Given the description of an element on the screen output the (x, y) to click on. 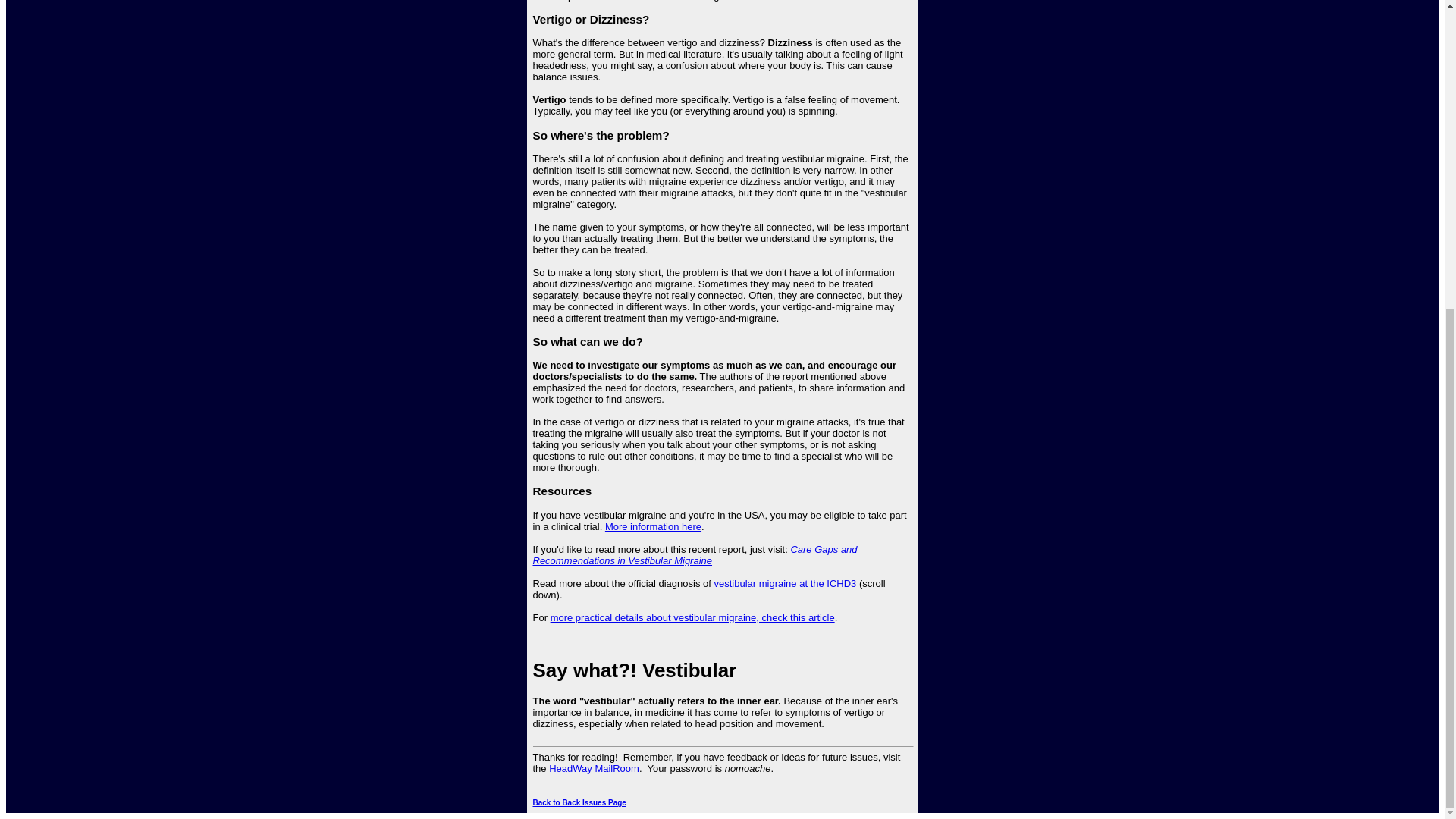
More information here (653, 526)
Back to Back Issues Page (579, 802)
HeadWay MailRoom (593, 767)
vestibular migraine at the ICHD3 (784, 583)
Care Gaps and Recommendations in Vestibular Migraine (694, 554)
